Given the description of an element on the screen output the (x, y) to click on. 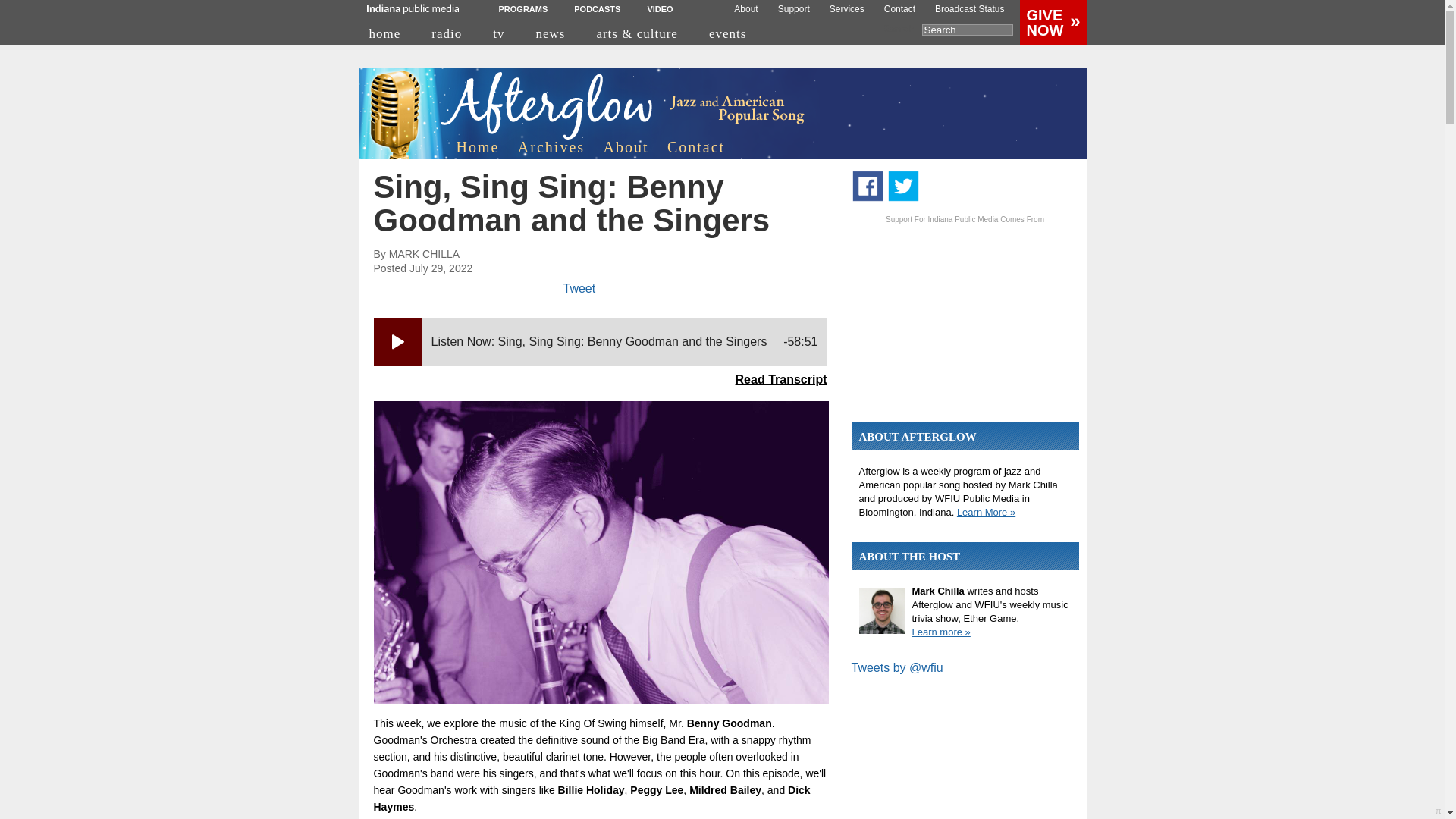
Search (967, 30)
3rd party ad content (964, 319)
